Given the description of an element on the screen output the (x, y) to click on. 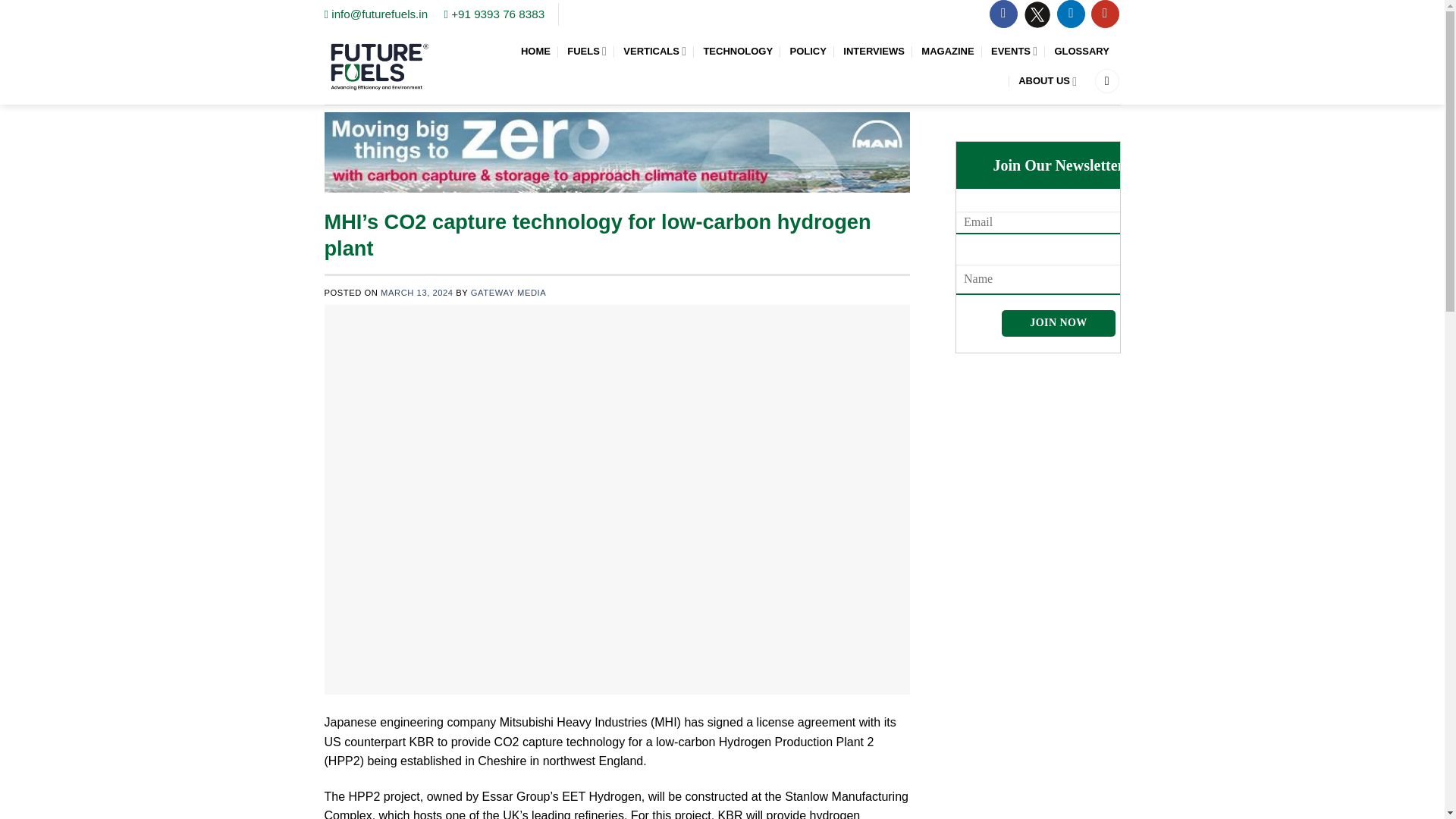
GLOSSARY  (1083, 51)
INTERVIEWS (873, 51)
MAGAZINE (947, 51)
POLICY (807, 51)
VERTICALS (654, 51)
Follow on LinkedIn (1070, 13)
futurefuels - Advancing Efficiency and Environment (379, 66)
ABOUT US (1047, 81)
FUELS (587, 51)
HOME (535, 51)
